Given the description of an element on the screen output the (x, y) to click on. 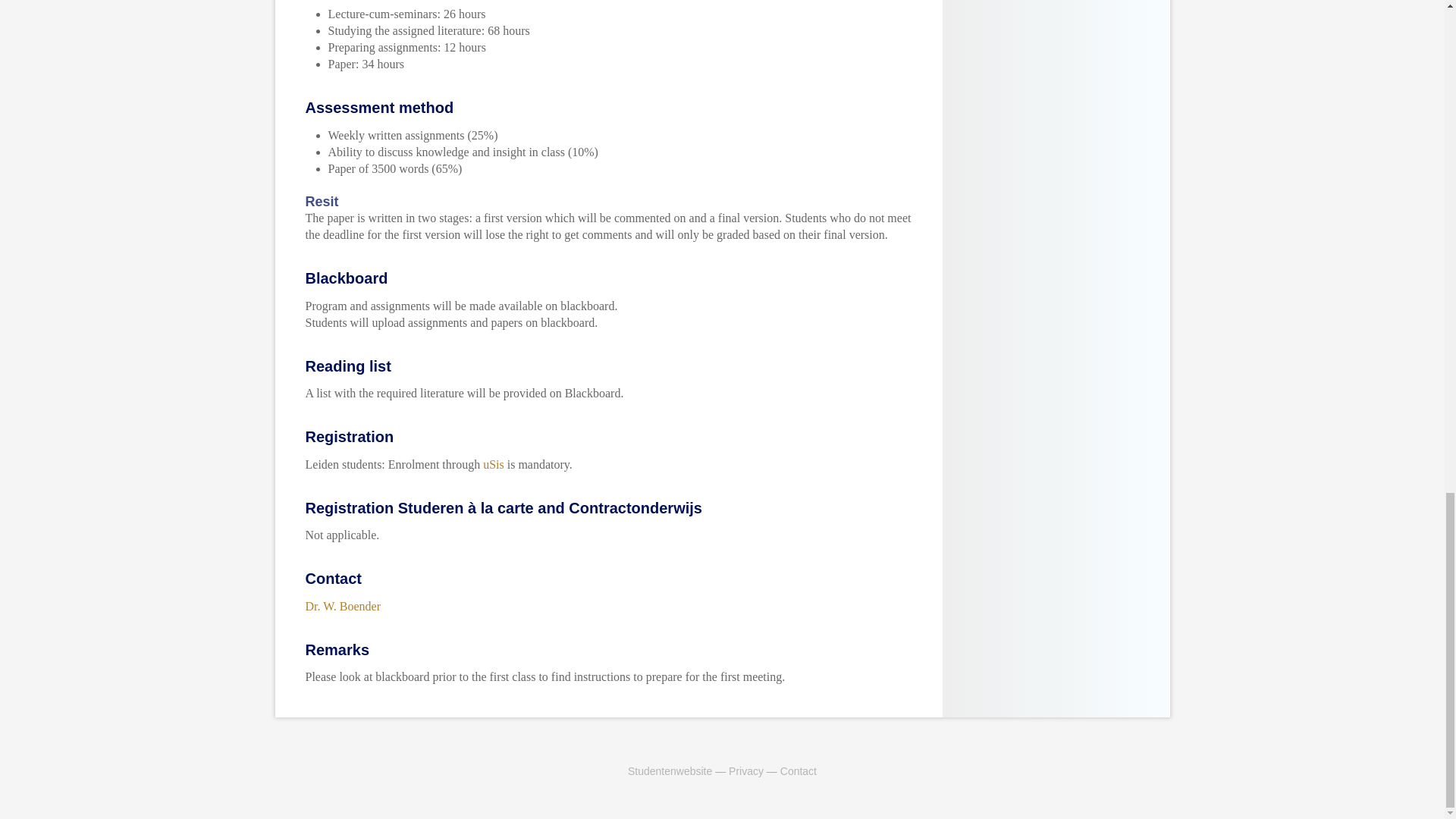
Dr. W. Boender (342, 605)
Contact (798, 770)
uSis (493, 463)
Privacy (745, 770)
Studentenwebsite (669, 770)
